Given the description of an element on the screen output the (x, y) to click on. 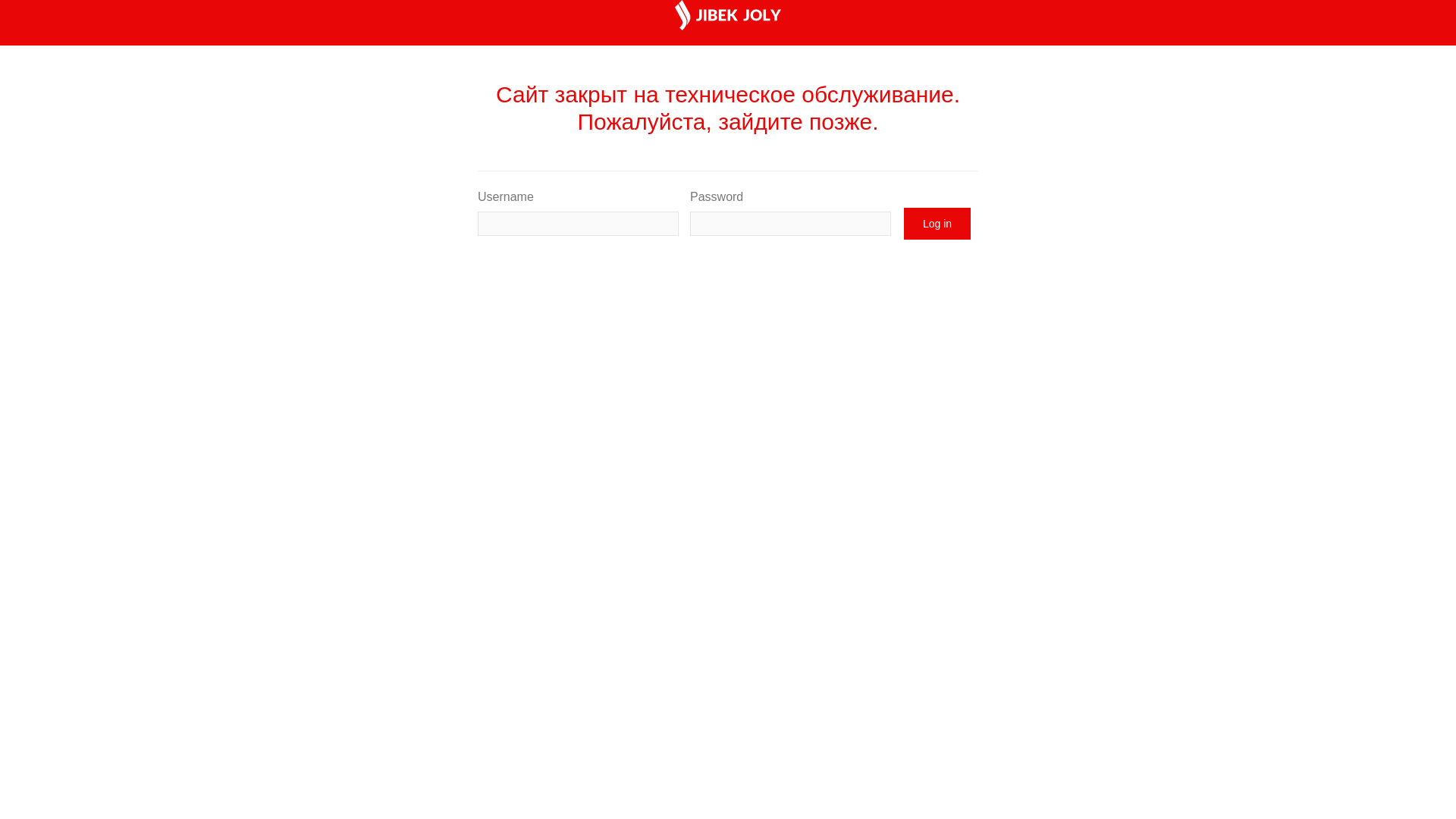
Log in (937, 223)
Log in (937, 223)
